Given the description of an element on the screen output the (x, y) to click on. 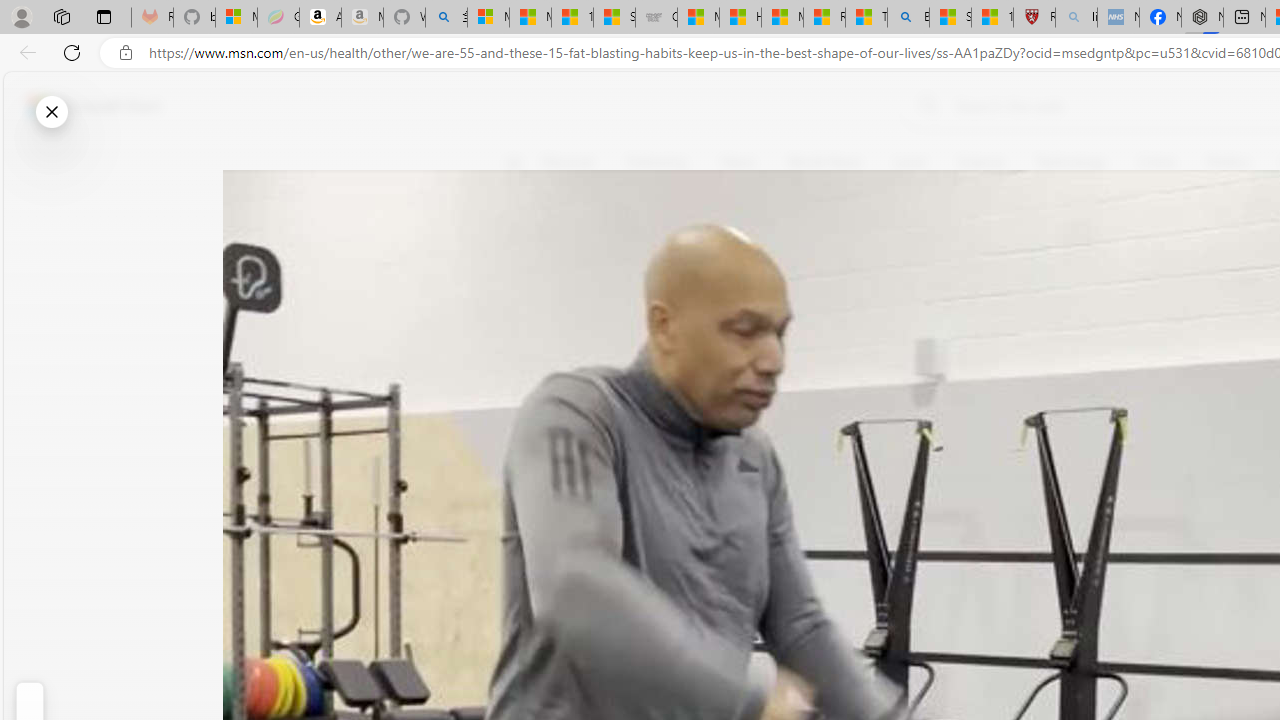
Class: button-glyph (513, 162)
Nordace - Nordace Siena Is Not An Ordinary Backpack (1201, 17)
Recipes - MSN (823, 17)
Local (909, 162)
Stocks - MSN (613, 17)
NCL Adult Asthma Inhaler Choice Guideline - Sleeping (1118, 17)
Following (656, 162)
Open navigation menu (513, 162)
Politics (1227, 162)
12 Popular Science Lies that Must be Corrected (991, 17)
Dislike (525, 300)
Following (658, 162)
